Given the description of an element on the screen output the (x, y) to click on. 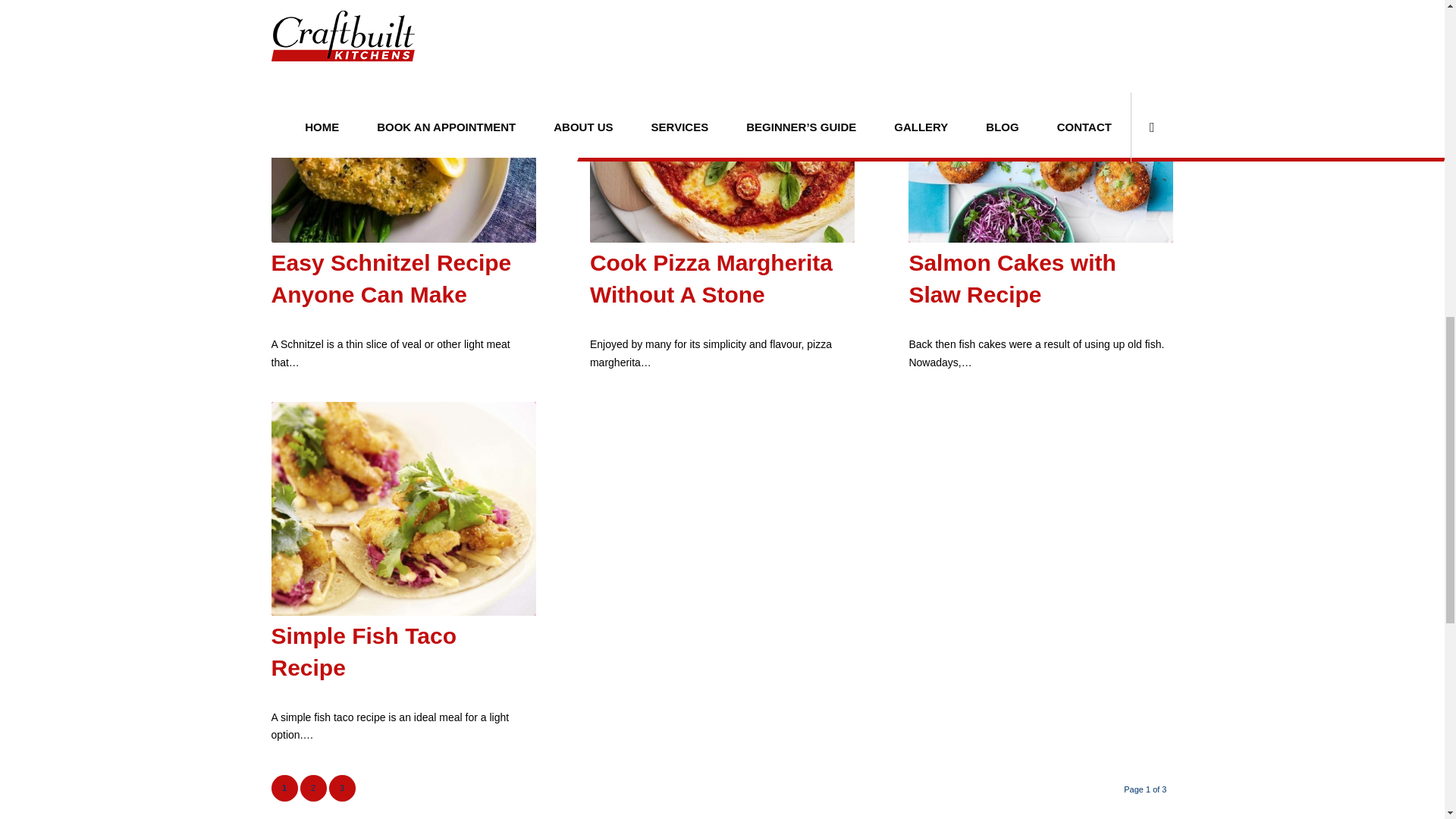
Easy Schnitzel Recipe Anyone Can Make (391, 278)
Cook Pizza Margherita Without A Stone (710, 278)
Easy Schnitzel Recipe Anyone Can Make (402, 135)
Cook Pizza Margherita Without A Stone (721, 135)
Easy Schnitzel Recipe Anyone Can Make (391, 278)
Salmon Cakes with Slaw Recipe (1040, 135)
